Given the description of an element on the screen output the (x, y) to click on. 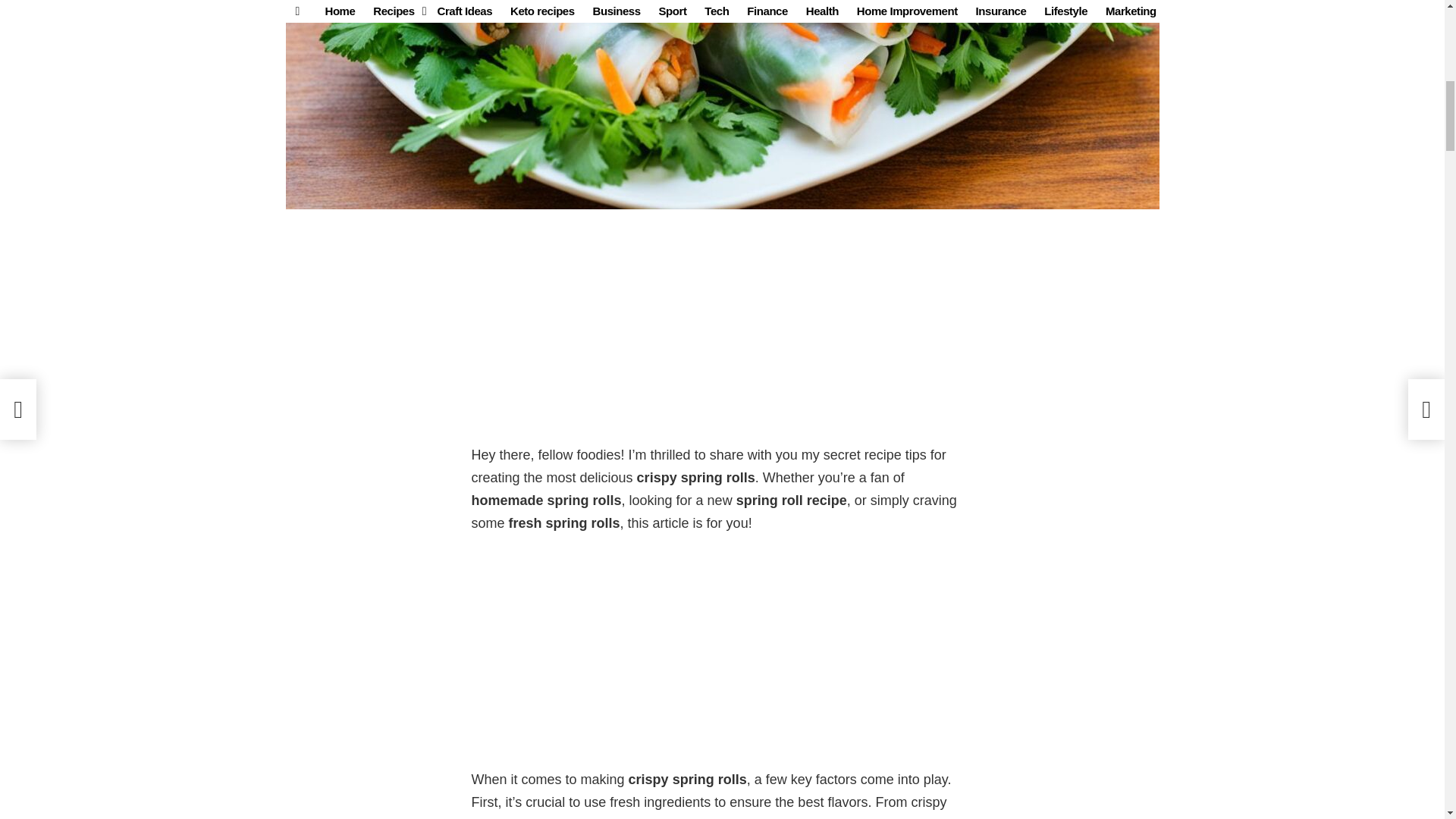
Advertisement (722, 331)
Advertisement (722, 655)
